Given the description of an element on the screen output the (x, y) to click on. 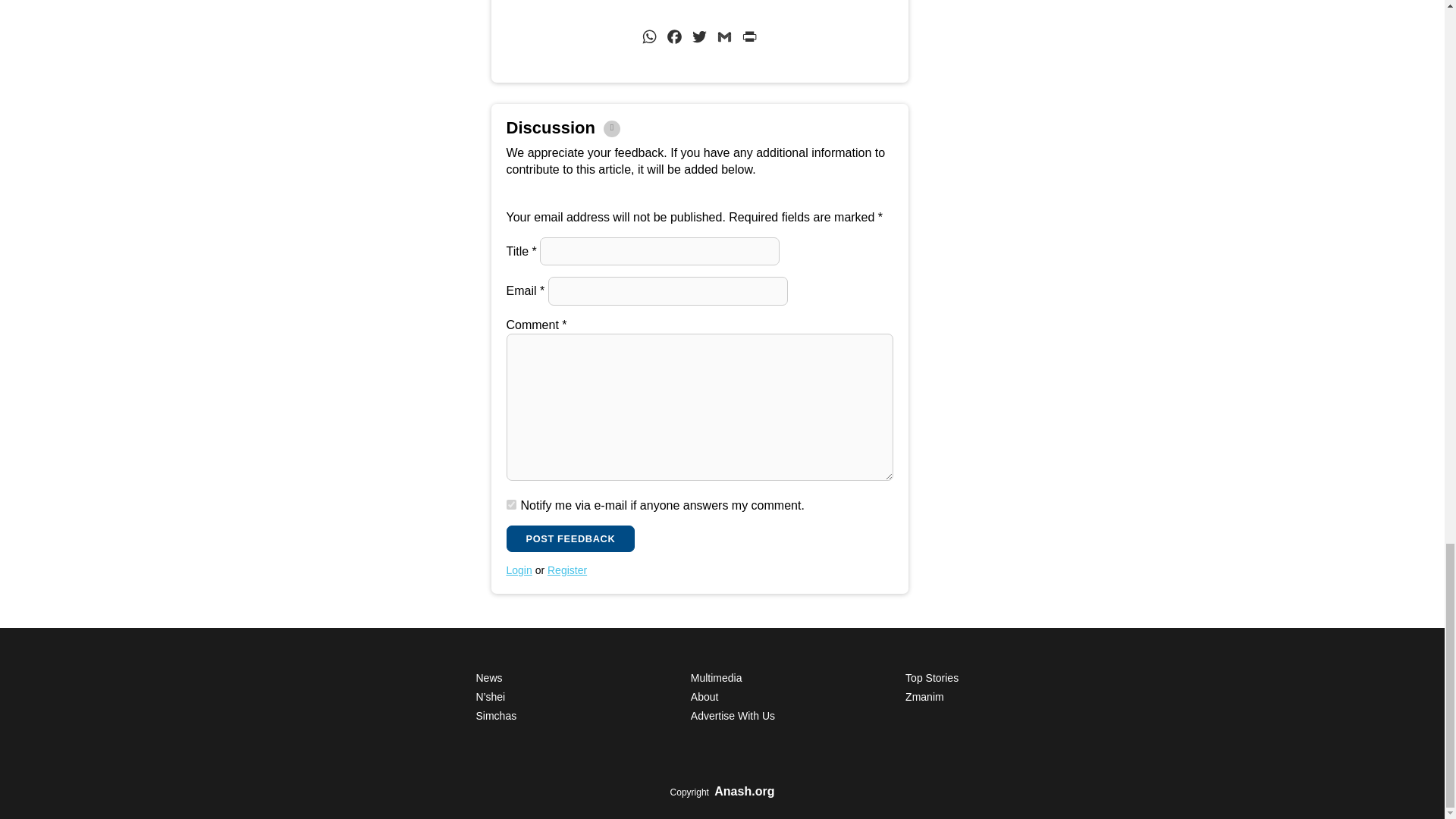
Post Feedback (570, 538)
WhatsApp (649, 39)
Print (748, 39)
Twitter (699, 39)
on (511, 504)
Facebook (674, 39)
Gmail (723, 39)
